Given the description of an element on the screen output the (x, y) to click on. 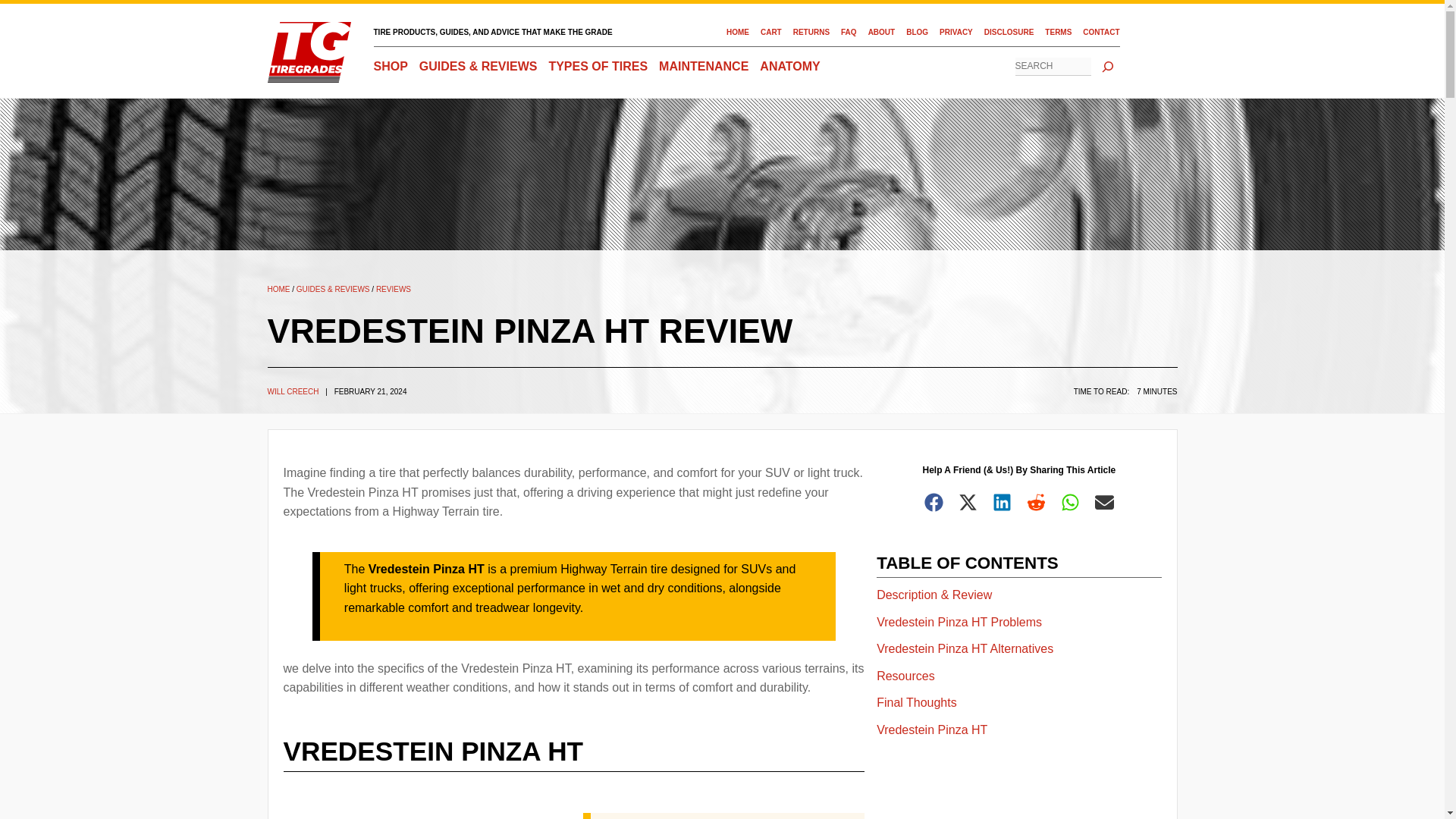
SHOP (389, 66)
CART (770, 32)
HOME (277, 289)
FAQ (849, 32)
TERMS (1058, 32)
HOME (737, 32)
REVIEWS (392, 289)
PRIVACY (955, 32)
ANATOMY (789, 66)
RETURNS (811, 32)
